Given the description of an element on the screen output the (x, y) to click on. 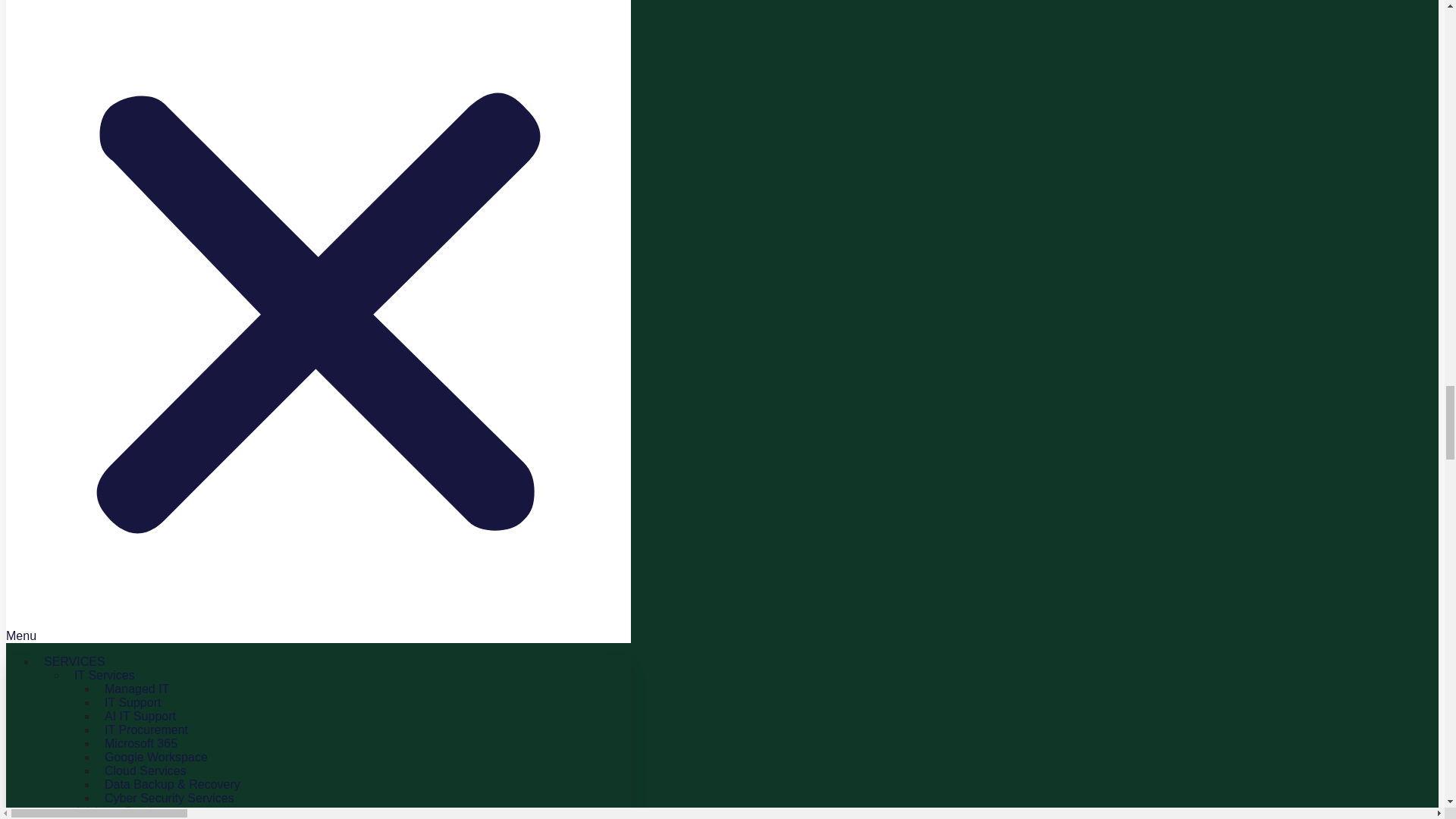
IT Services (104, 674)
AI IT Support (140, 715)
SERVICES (74, 661)
Managed IT (136, 688)
IT Support (132, 701)
